Given the description of an element on the screen output the (x, y) to click on. 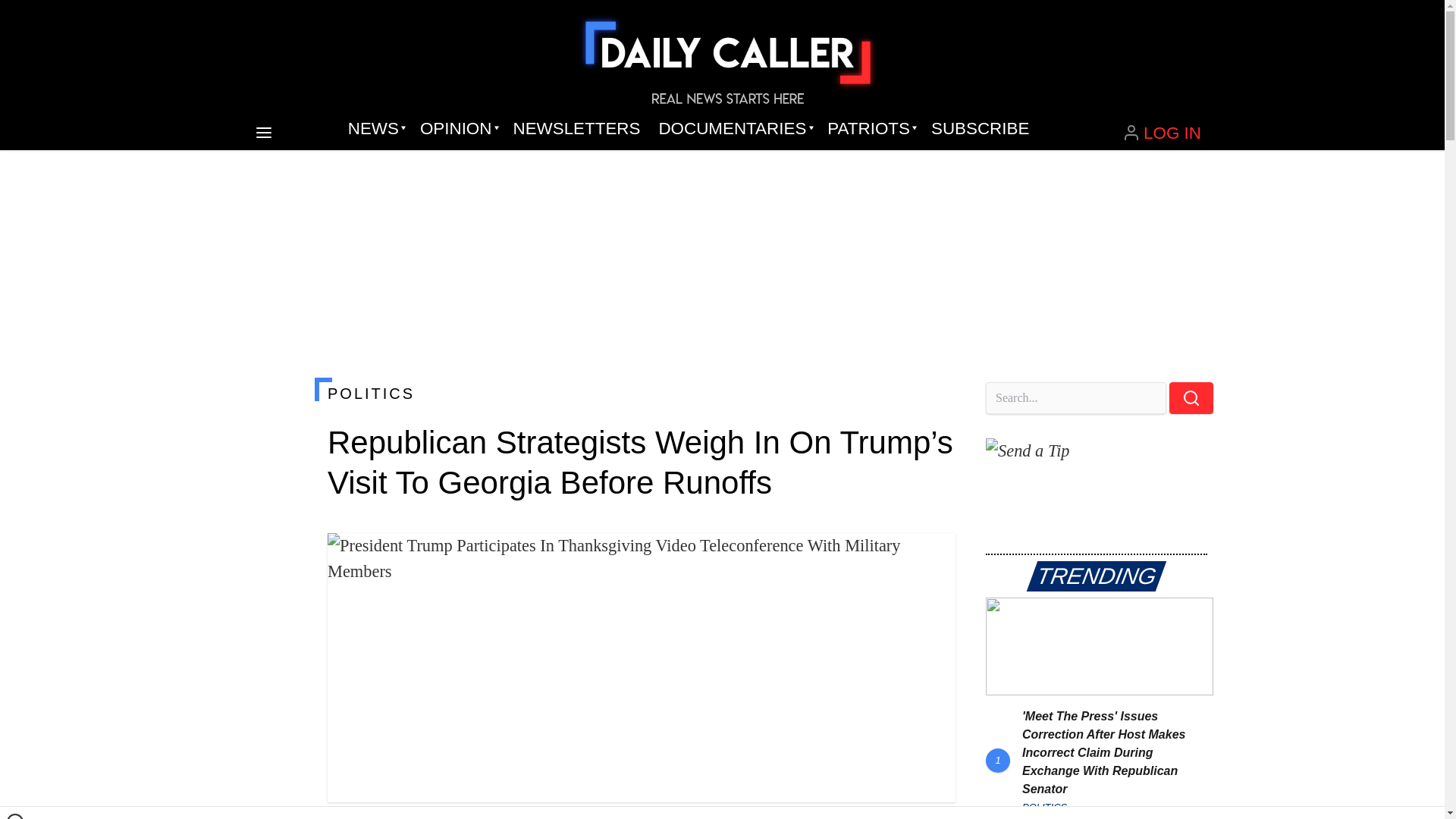
PATRIOTS (869, 128)
Close window (14, 816)
SUBSCRIBE (979, 128)
NEWSLETTERS (576, 128)
DOCUMENTARIES (733, 128)
Toggle fullscreen (931, 556)
OPINION (456, 128)
NEWS (374, 128)
